Given the description of an element on the screen output the (x, y) to click on. 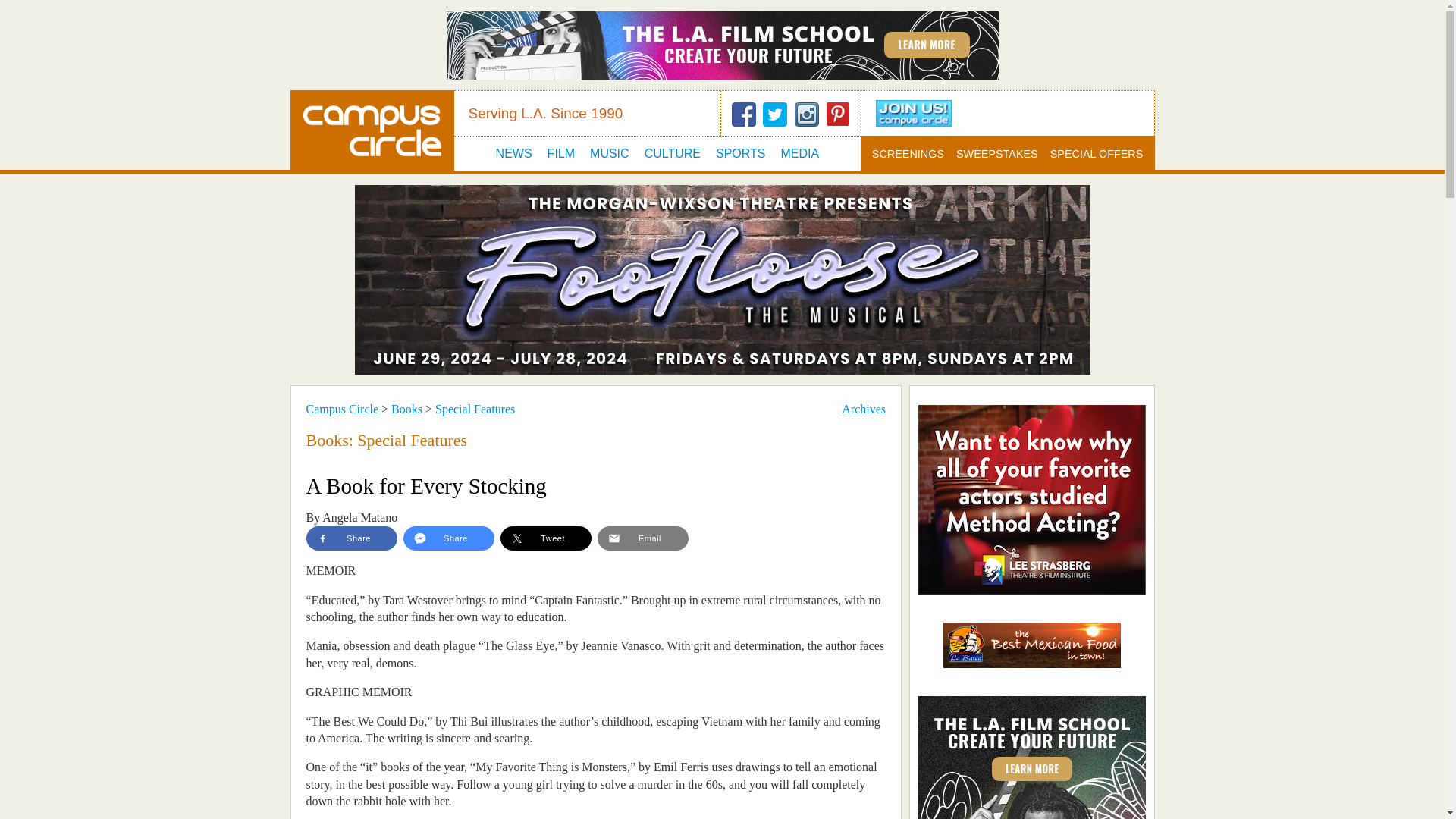
NEWS (514, 153)
CULTURE (672, 153)
SPORTS (740, 153)
MUSIC (608, 153)
MEDIA (799, 153)
